Given the description of an element on the screen output the (x, y) to click on. 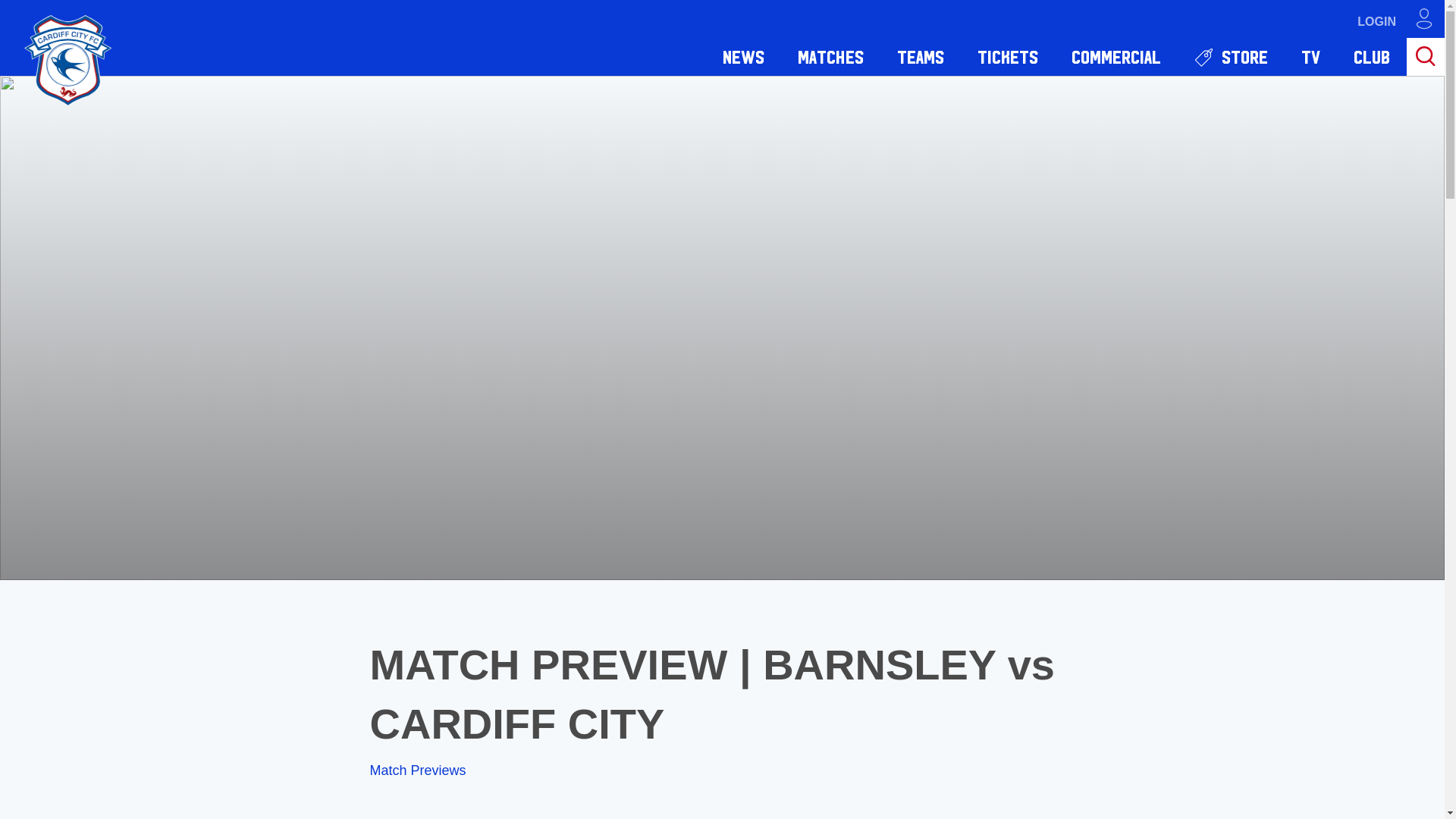
COMMERCIAL (1115, 56)
STORE (1230, 56)
TEAMS (920, 56)
TICKETS (1007, 56)
MATCHES (830, 56)
NEWS (743, 56)
